Given the description of an element on the screen output the (x, y) to click on. 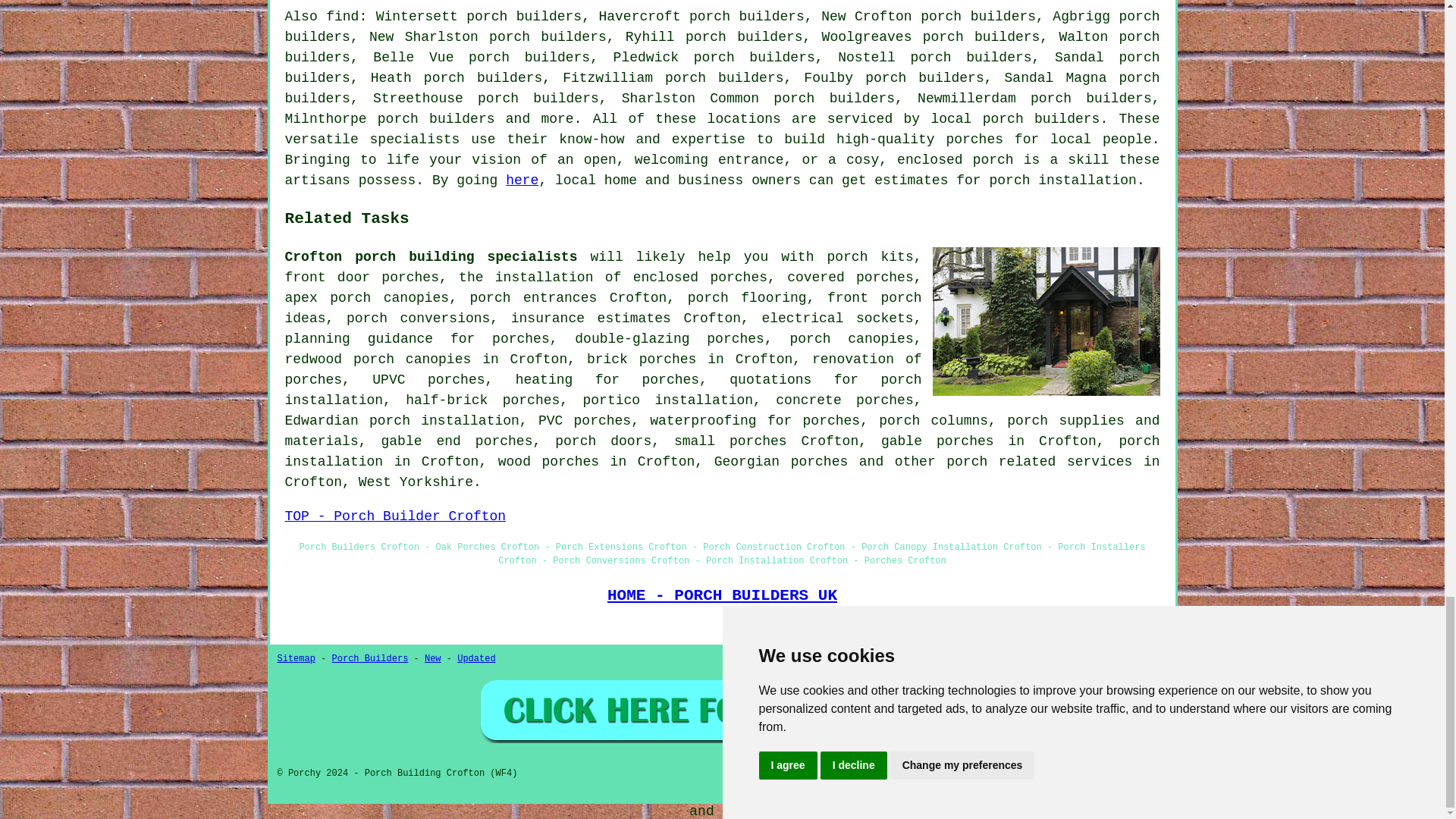
Porch Building Crofton UK (1046, 321)
porch (992, 159)
half-brick porches (482, 400)
